Given the description of an element on the screen output the (x, y) to click on. 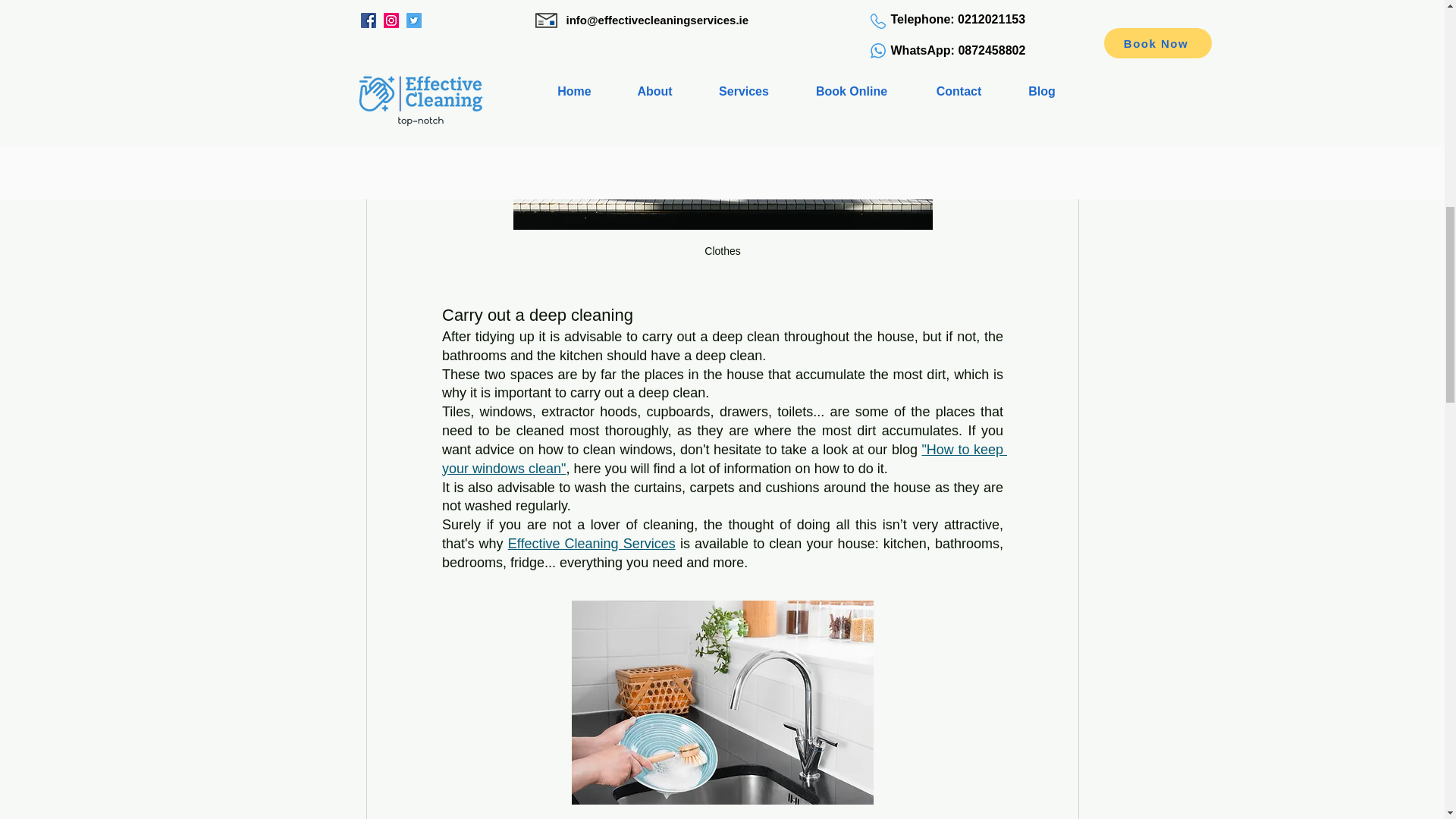
Clothes (721, 136)
"How to keep your windows clean" (723, 458)
Effective Cleaning Services (590, 543)
